Given the description of an element on the screen output the (x, y) to click on. 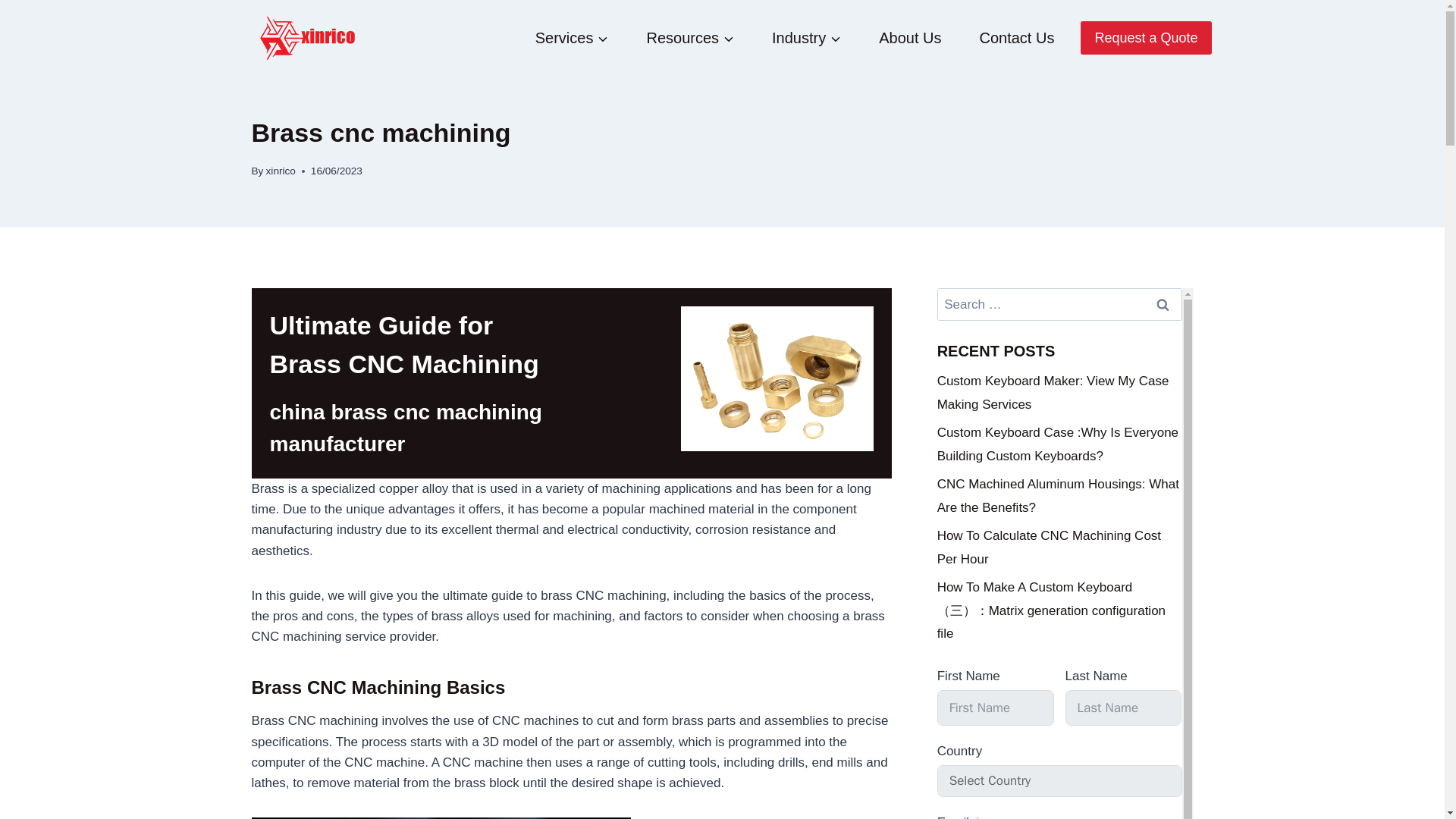
Industry (806, 37)
Request a Quote (1145, 37)
Services (571, 37)
Search (1161, 304)
Search (1161, 304)
About Us (909, 37)
Contact Us (1016, 37)
xinrico (280, 170)
Resources (689, 37)
